Given the description of an element on the screen output the (x, y) to click on. 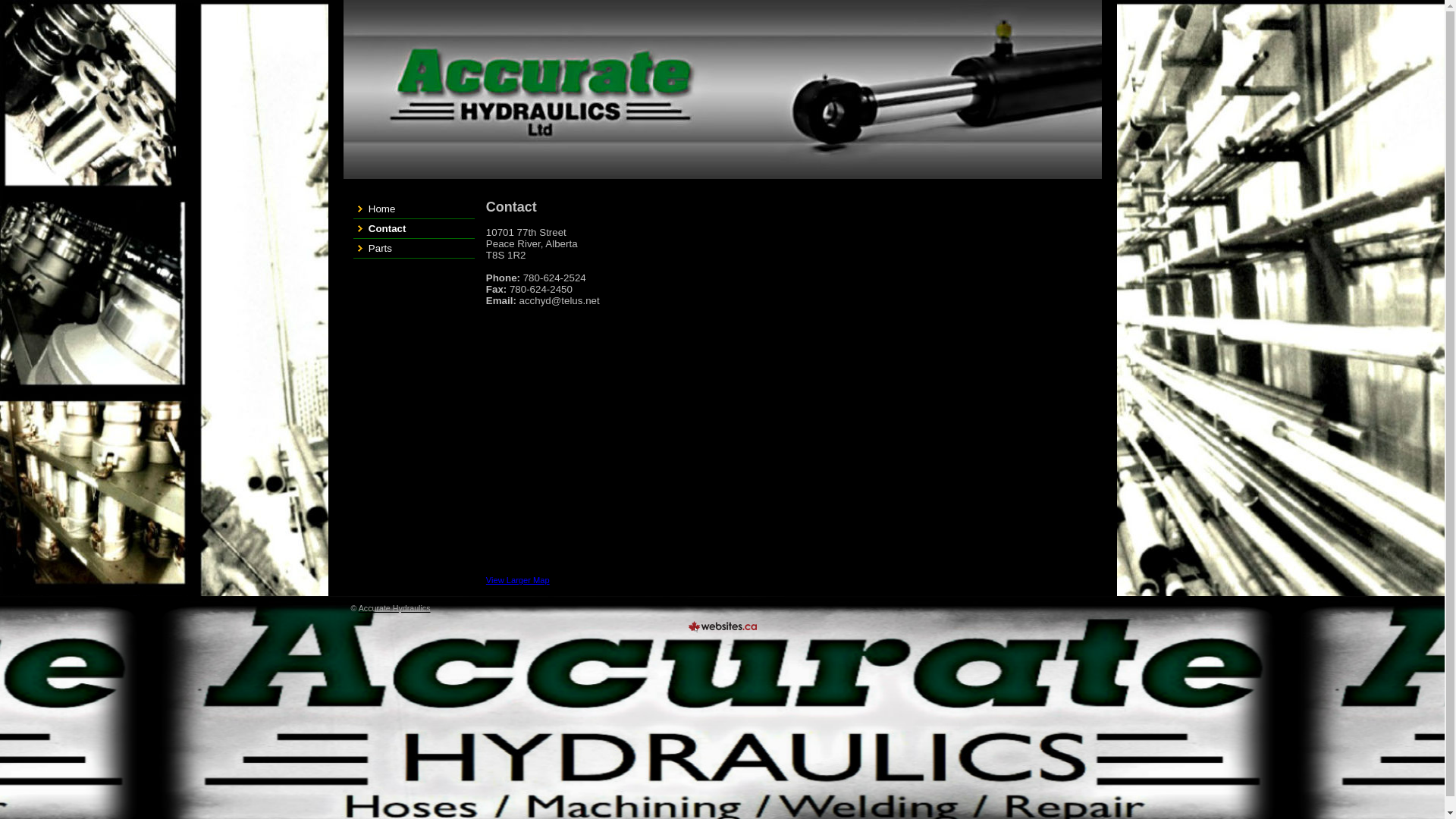
Home Element type: text (413, 209)
View Larger Map Element type: text (517, 579)
Parts Element type: text (413, 248)
Contact Element type: text (413, 228)
Accurate Hydraulics Element type: text (394, 607)
Web design Edmonton by WebsitesCA Element type: hover (722, 626)
